Given the description of an element on the screen output the (x, y) to click on. 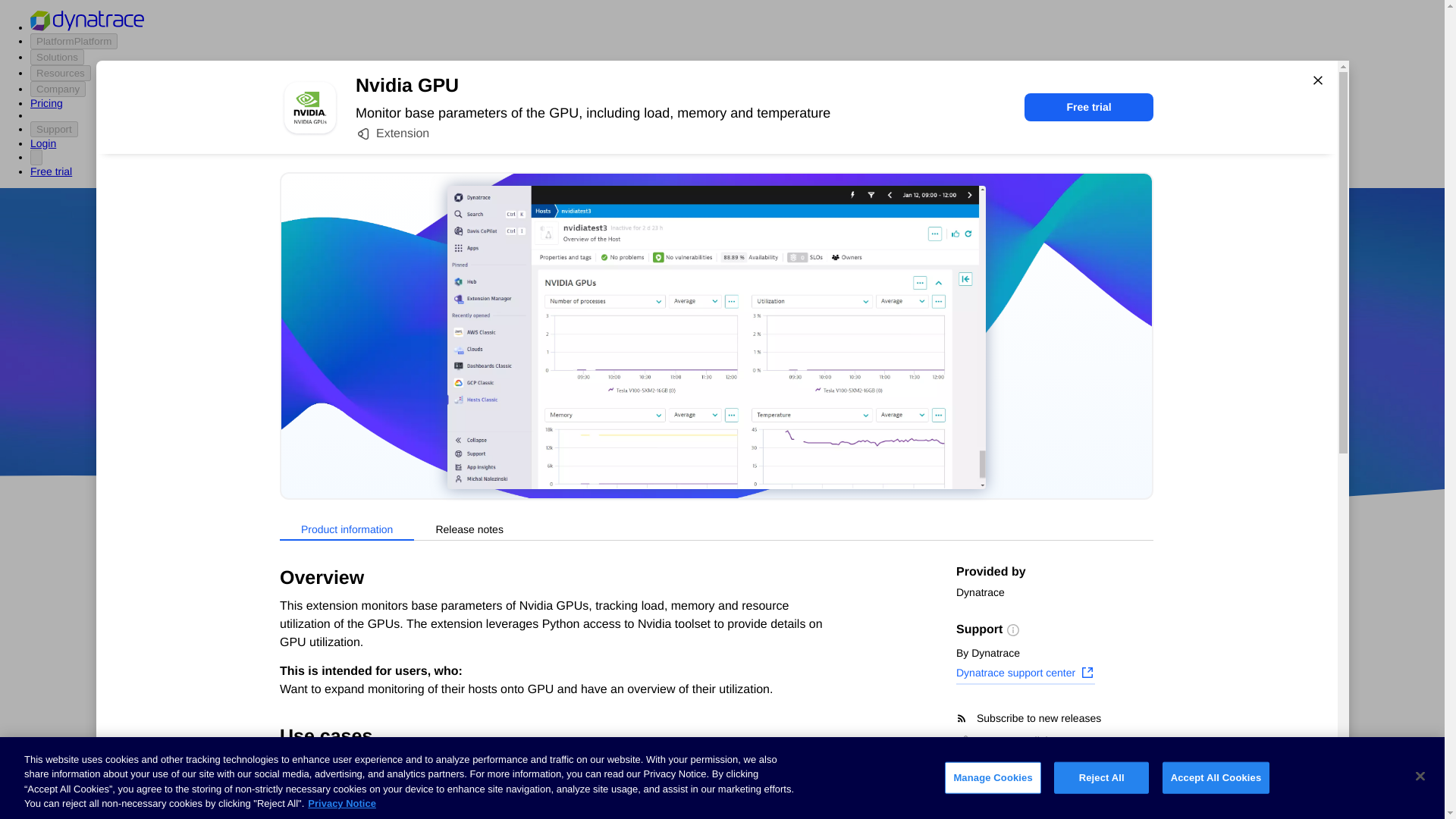
 artificial-intelligence machine-learning (607, 778)
Google Cloud (751, 418)
Azure (681, 418)
Dynatrace support center (1025, 674)
Log Management and Analytics (345, 727)
Infrastructure Observability (335, 809)
AWS (637, 418)
Free trial (1089, 107)
Kubernetes (295, 755)
Certified Partners (309, 612)
Open source (903, 418)
Hub home (291, 583)
Copy page link (1003, 740)
 Envoy Istio Kubernetes Service Mesh (841, 778)
Istio Service Mesh (842, 723)
